Given the description of an element on the screen output the (x, y) to click on. 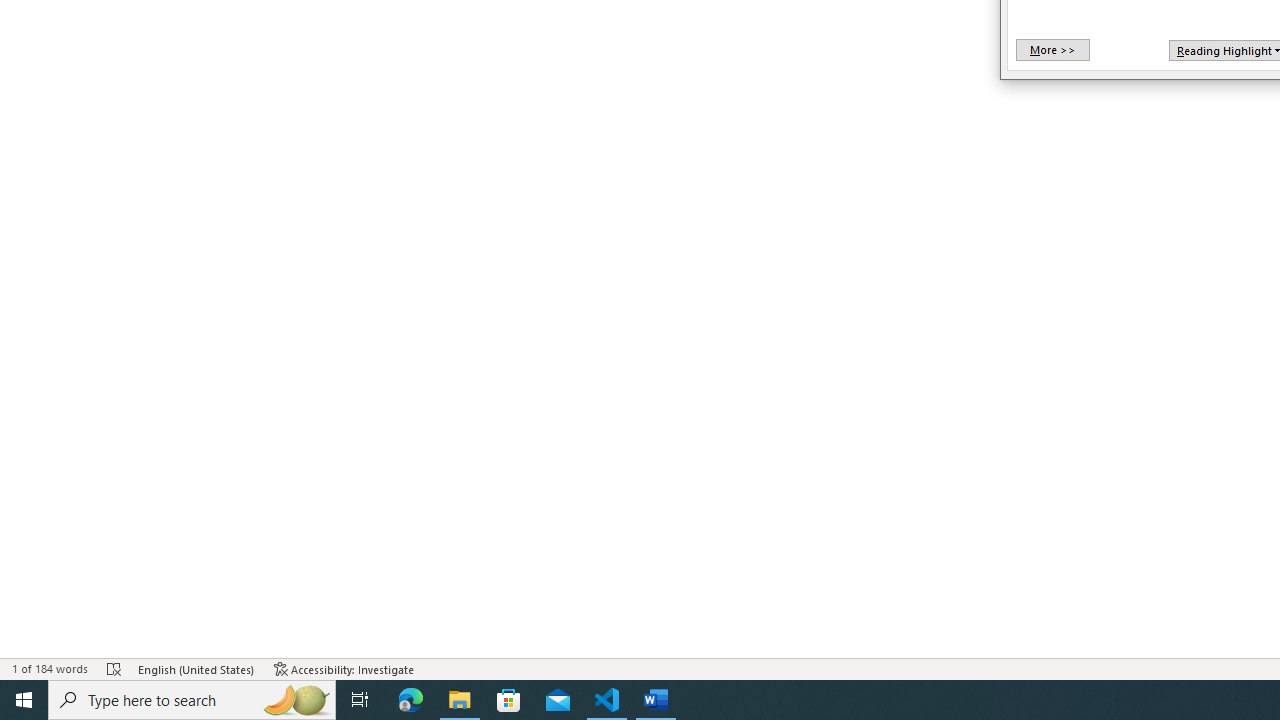
Visual Studio Code - 1 running window (607, 699)
More >> (1052, 49)
Language English (United States) (196, 668)
Start (24, 699)
Word Count 1 of 184 words (49, 668)
Microsoft Edge (411, 699)
Type here to search (191, 699)
File Explorer - 1 running window (460, 699)
Search highlights icon opens search home window (295, 699)
Microsoft Store (509, 699)
Word - 1 running window (656, 699)
Spelling and Grammar Check Errors (114, 668)
Task View (359, 699)
